Given the description of an element on the screen output the (x, y) to click on. 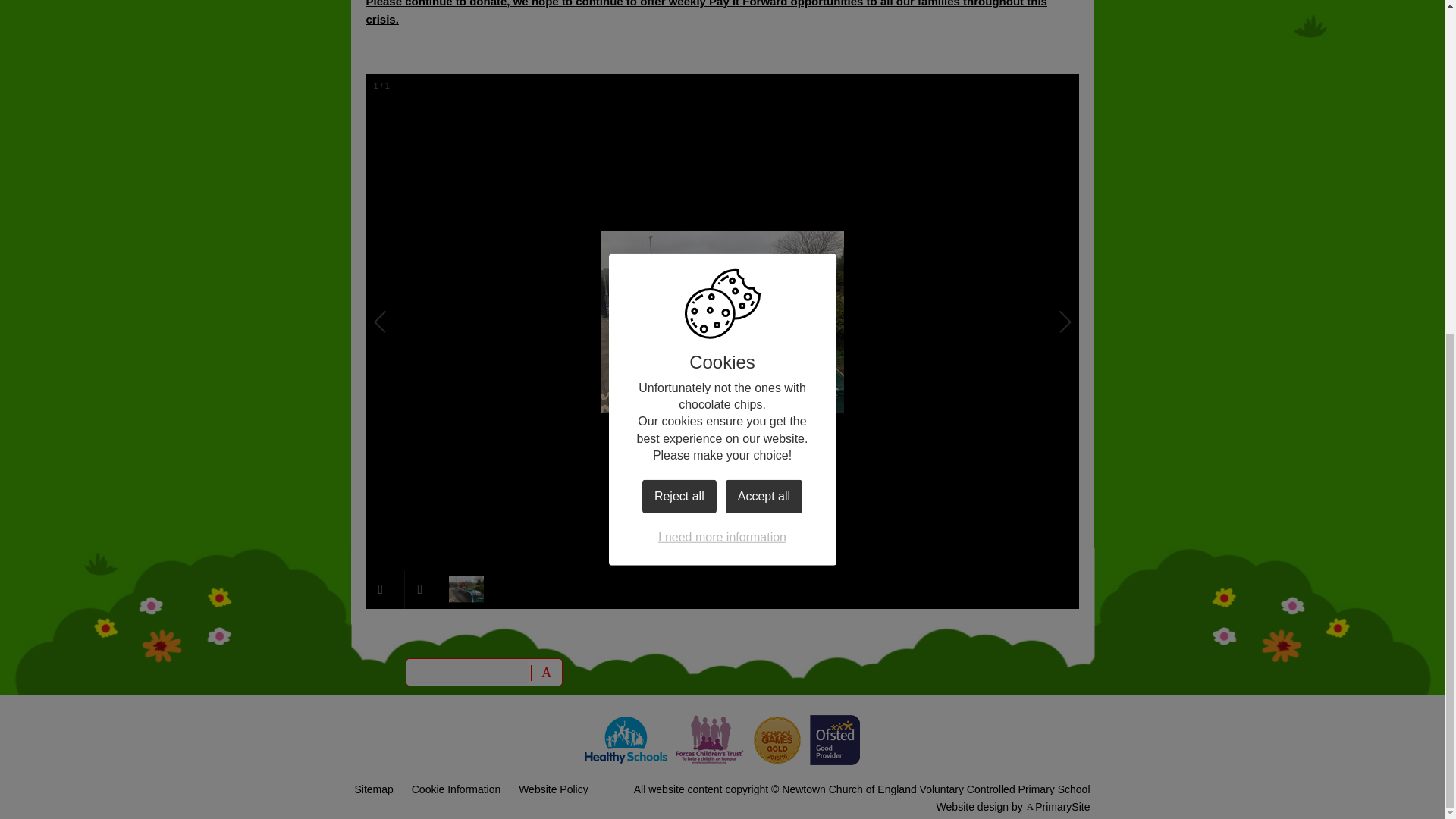
A (546, 672)
